Given the description of an element on the screen output the (x, y) to click on. 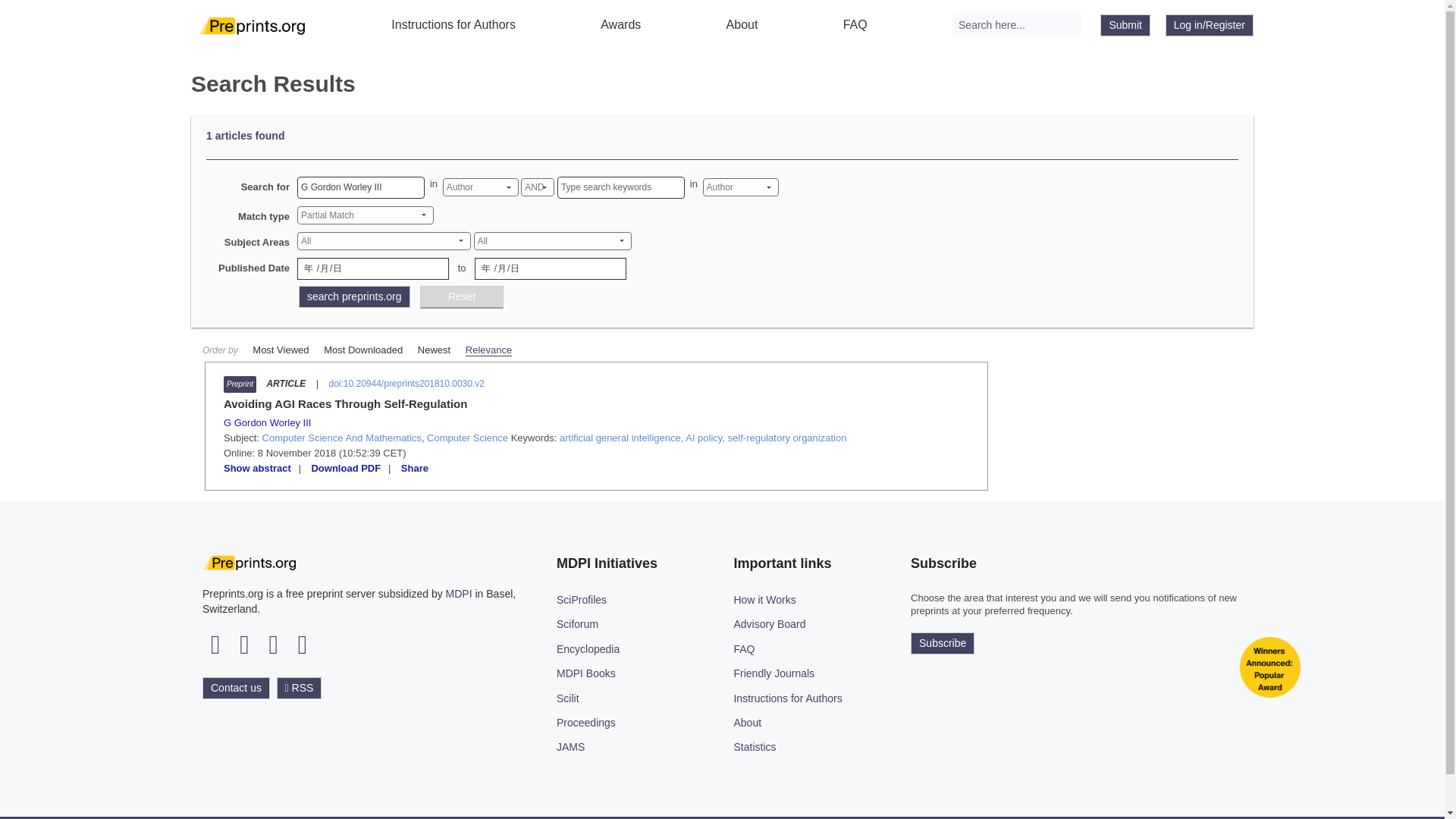
Relevance (488, 349)
search preprints.org (354, 296)
Most Viewed (279, 349)
Most Downloaded (363, 349)
Computer Science And Mathematics (342, 437)
Download PDF (345, 468)
Show abstract (257, 468)
Newest (433, 349)
Reset (461, 296)
